Given the description of an element on the screen output the (x, y) to click on. 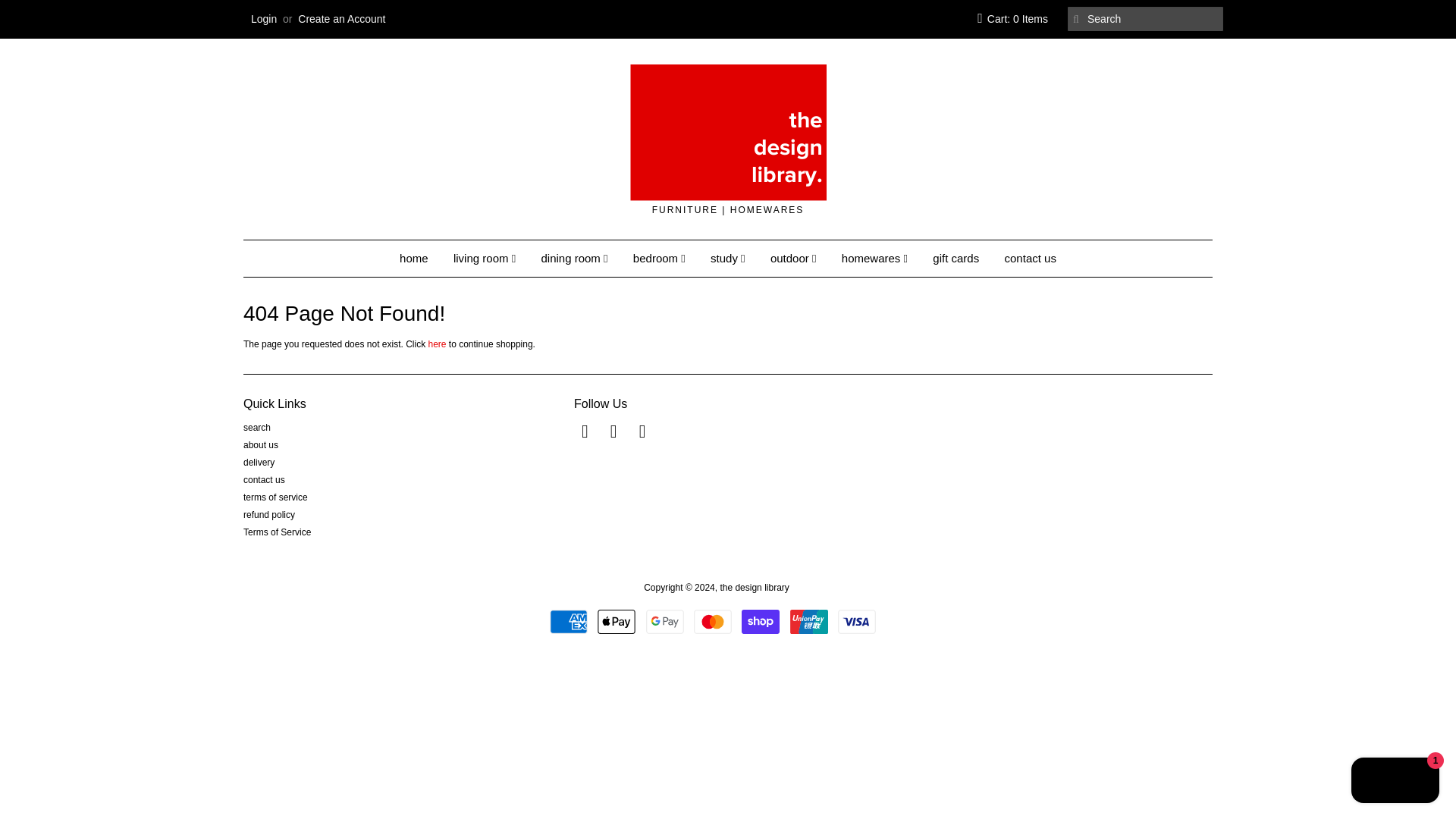
Cart (1012, 19)
search (256, 427)
Login (263, 19)
Terms of Service (277, 532)
Create an Account (341, 19)
delivery (259, 462)
Cart: 0 Items (1012, 19)
contact us (264, 480)
about us (260, 444)
refund policy (269, 514)
terms of service  (275, 497)
